Given the description of an element on the screen output the (x, y) to click on. 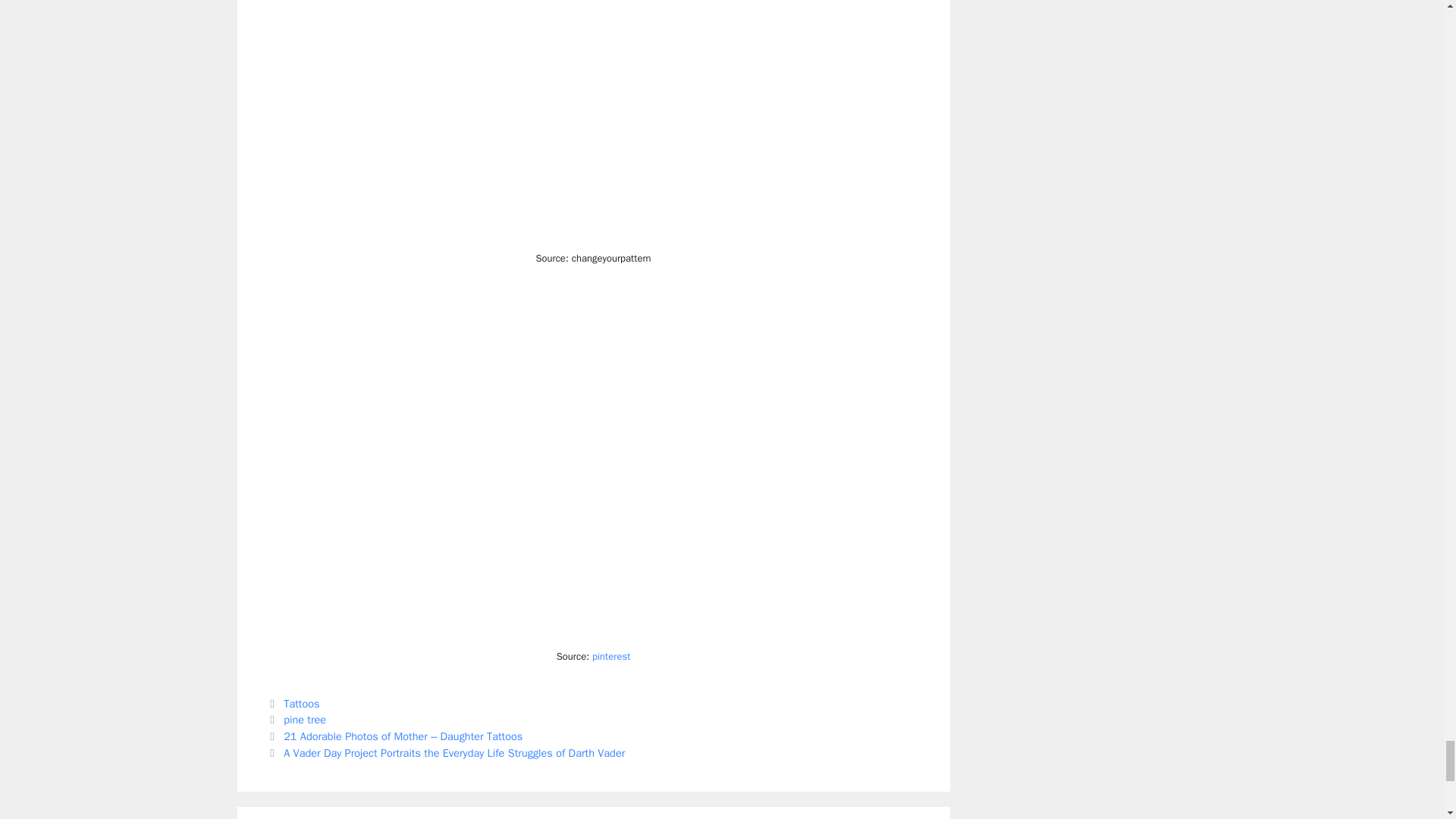
pine tree (304, 719)
Tattoos (300, 703)
pinterest (611, 656)
